Given the description of an element on the screen output the (x, y) to click on. 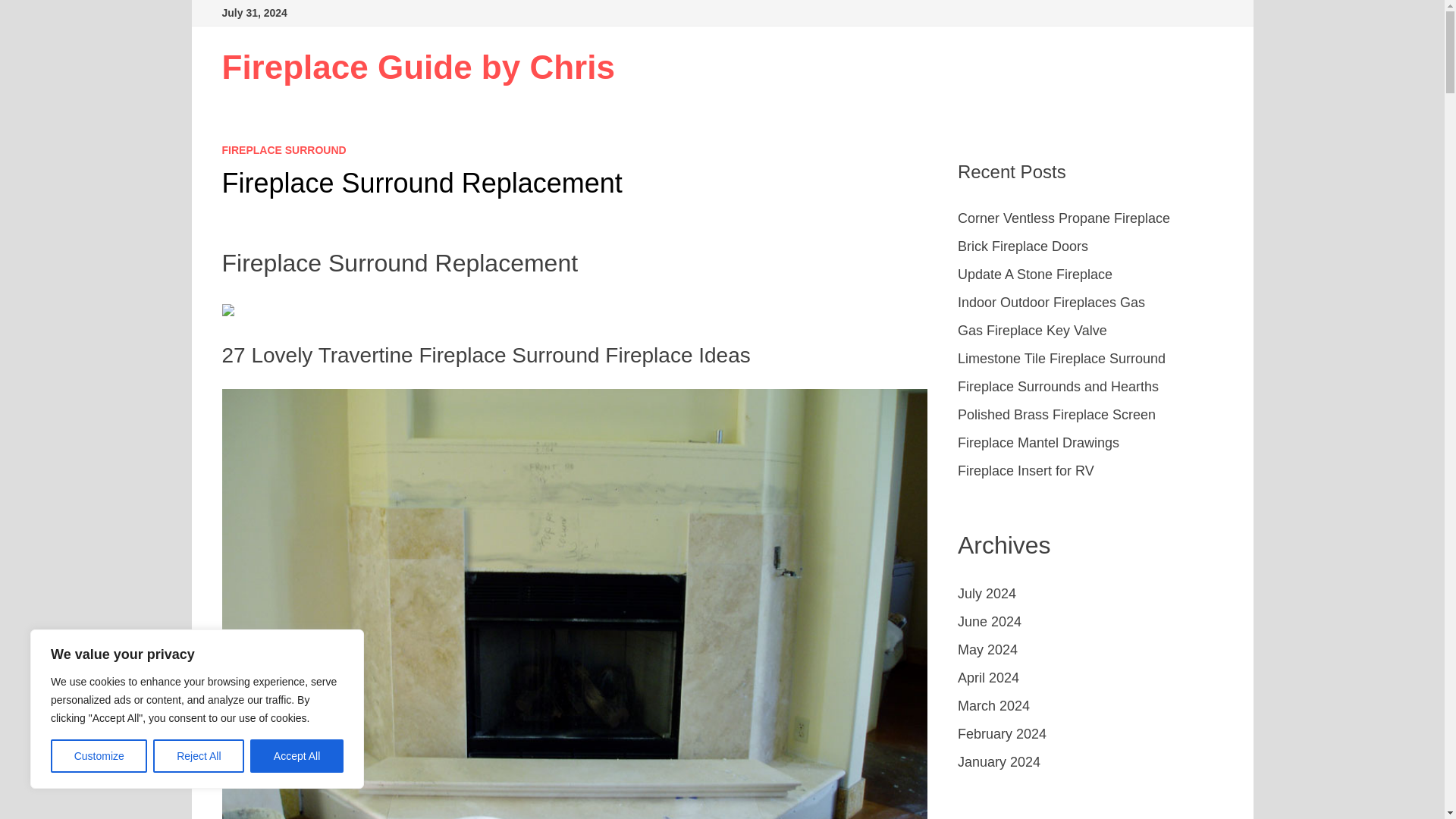
FIREPLACE SURROUND (283, 150)
Reject All (198, 756)
Fireplace Guide by Chris (417, 66)
Accept All (296, 756)
Customize (98, 756)
